Given the description of an element on the screen output the (x, y) to click on. 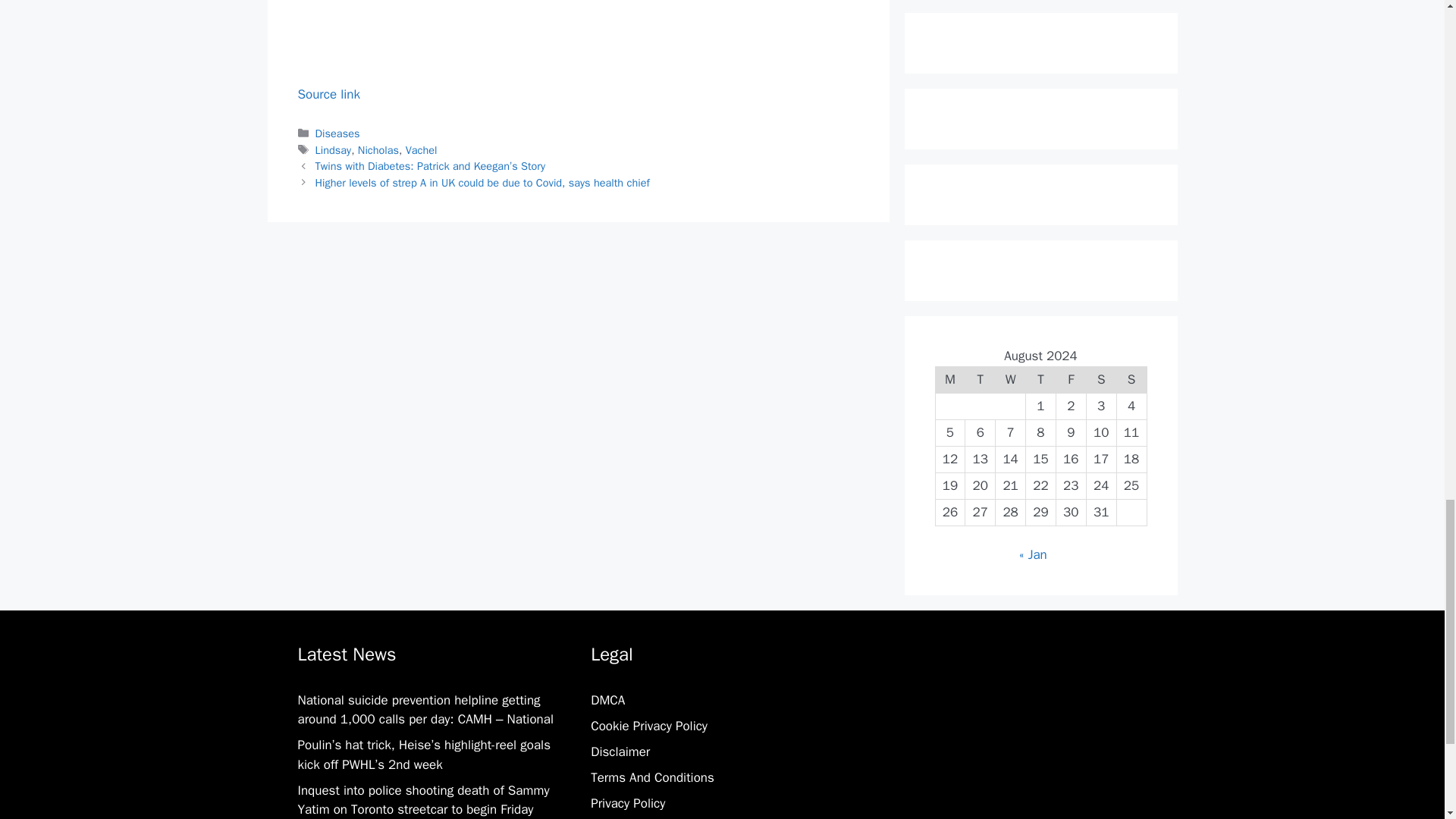
Tuesday (980, 379)
Source link (328, 94)
Vachel (422, 150)
Thursday (1041, 379)
Diseases (337, 133)
Wednesday (1010, 379)
Nicholas (378, 150)
Friday (1070, 379)
Lindsay (333, 150)
